Given the description of an element on the screen output the (x, y) to click on. 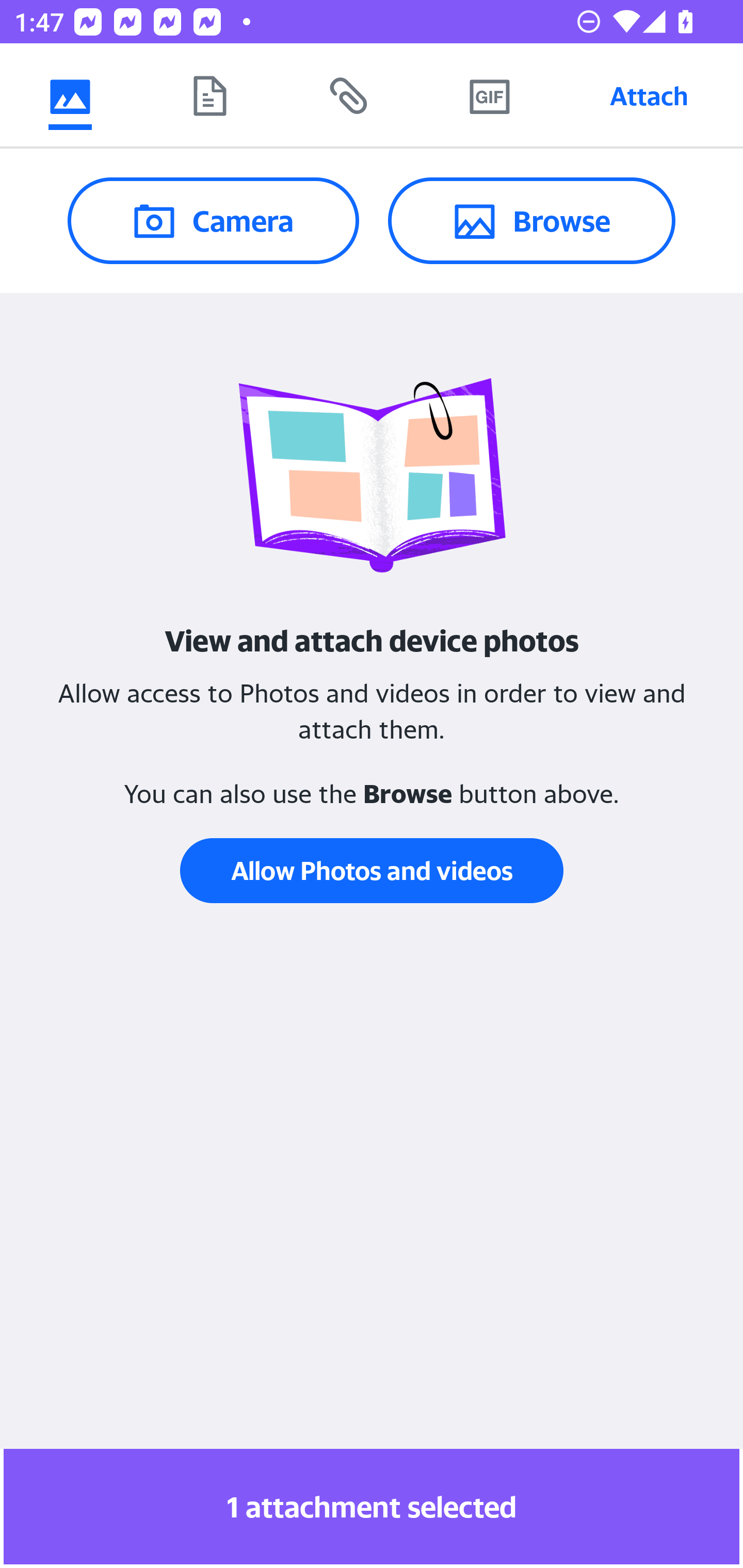
Camera photos (69, 95)
Device files (209, 95)
Recent attachments from mail (349, 95)
GIFs (489, 95)
Attach (649, 95)
Camera (212, 220)
Browse (531, 220)
Allow Photos and videos (371, 870)
1 attachment selected (371, 1506)
